Given the description of an element on the screen output the (x, y) to click on. 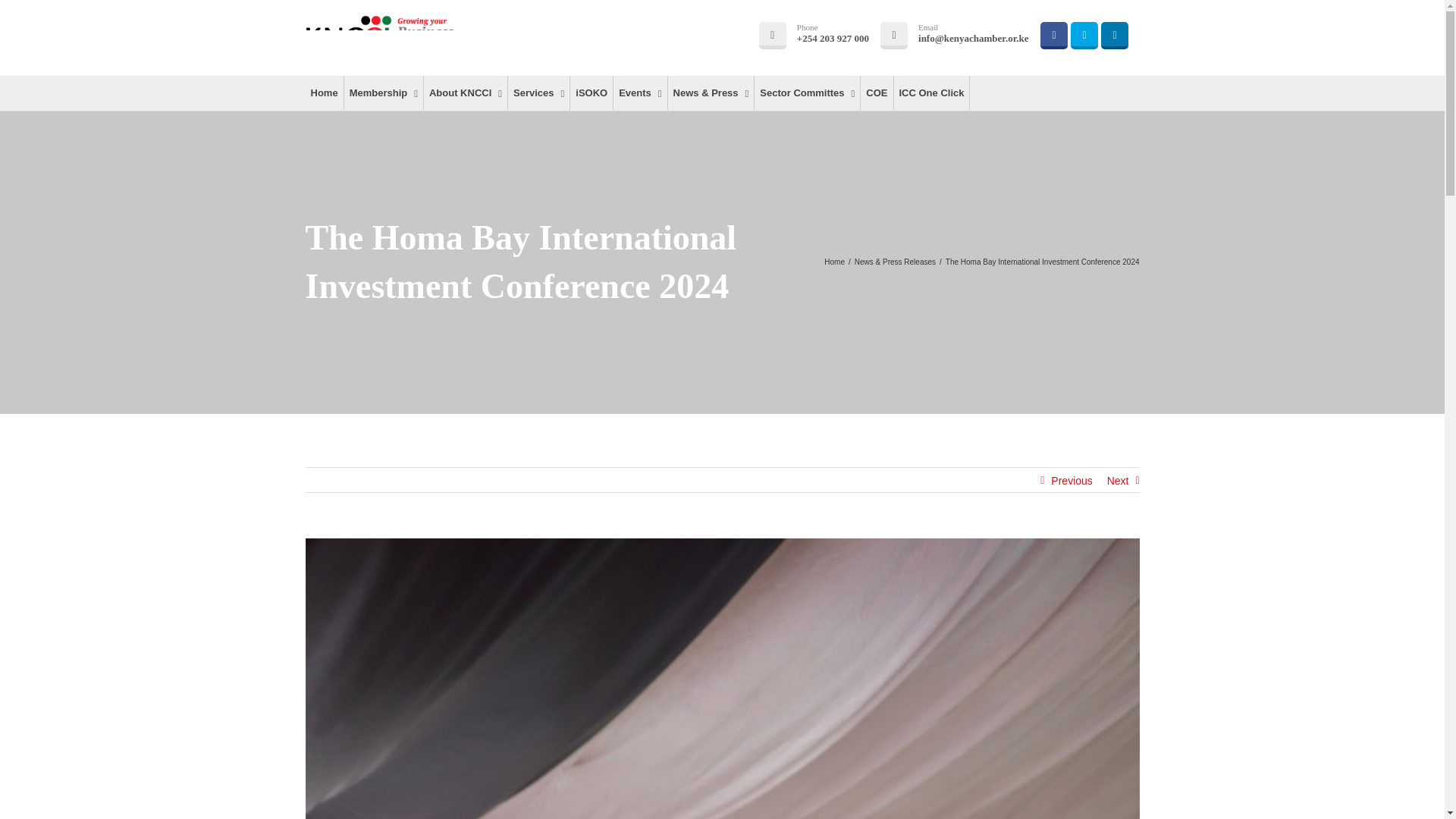
COE (876, 92)
Sector Committes (807, 92)
About KNCCI (464, 92)
iSOKO (591, 92)
Home (834, 261)
Events (639, 92)
ICC One Click (931, 92)
Membership (383, 92)
Home (323, 92)
Services (538, 92)
